Given the description of an element on the screen output the (x, y) to click on. 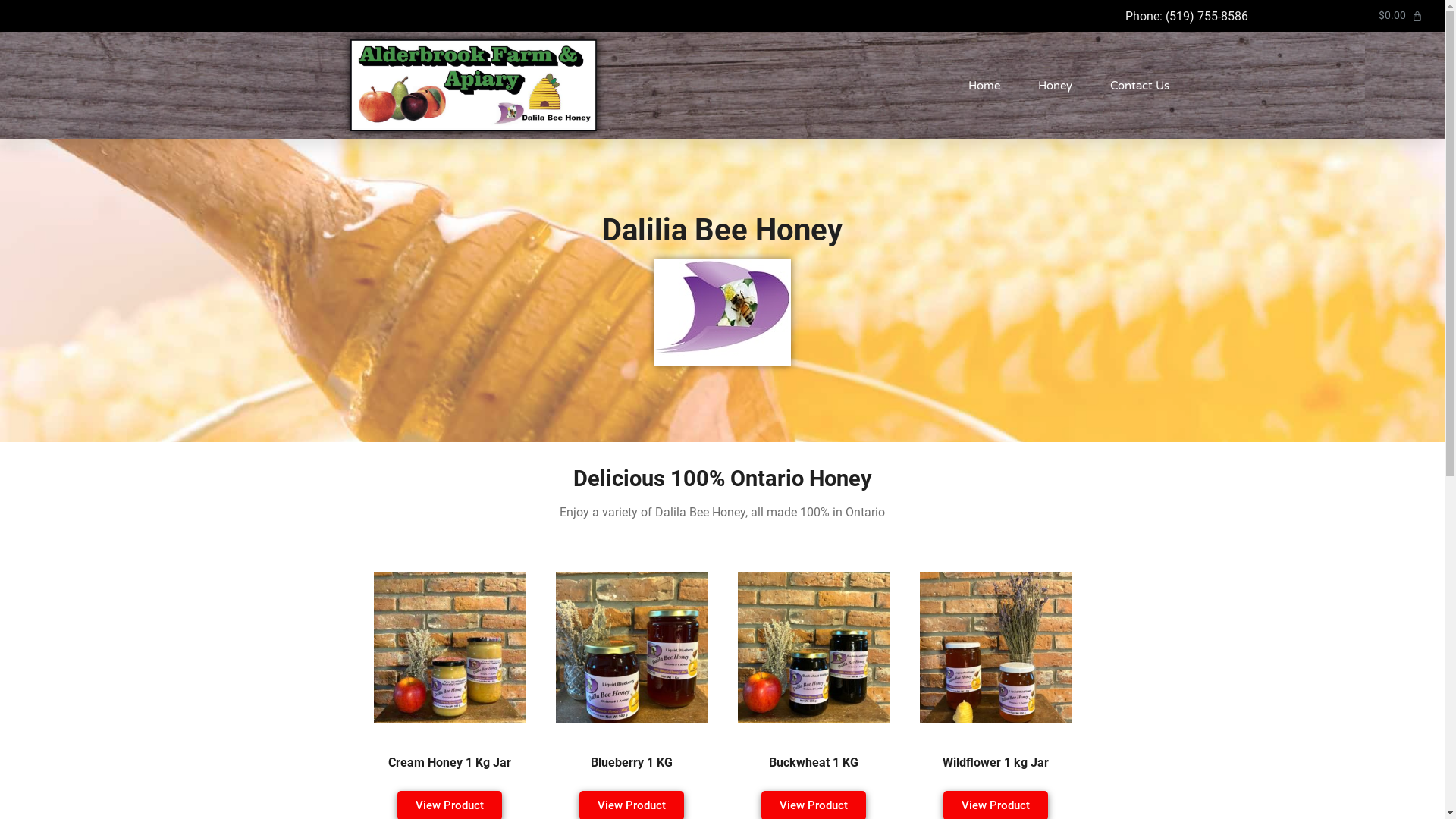
$0.00 Element type: text (1400, 15)
Wildflower 1 kg Jar Element type: text (994, 762)
Honey Element type: text (1055, 85)
Contact Us Element type: text (1139, 85)
Buckwheat 1 KG Element type: text (812, 762)
Blueberry 1 KG Element type: text (630, 762)
Home Element type: text (984, 85)
Cream Honey 1 Kg Jar Element type: text (448, 762)
